Given the description of an element on the screen output the (x, y) to click on. 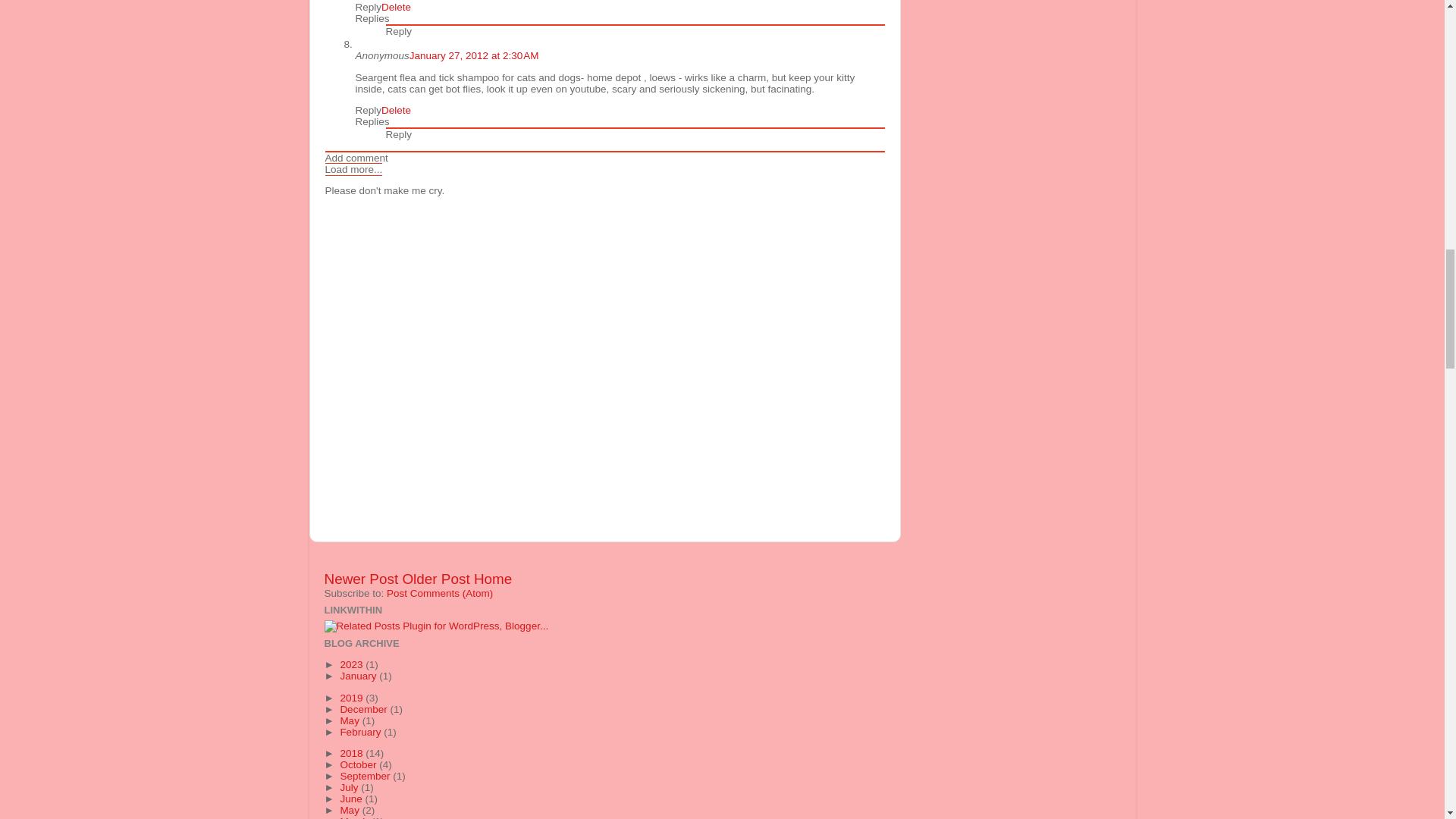
Newer Post (361, 578)
Advertisement (501, 562)
Older Post (434, 578)
